Given the description of an element on the screen output the (x, y) to click on. 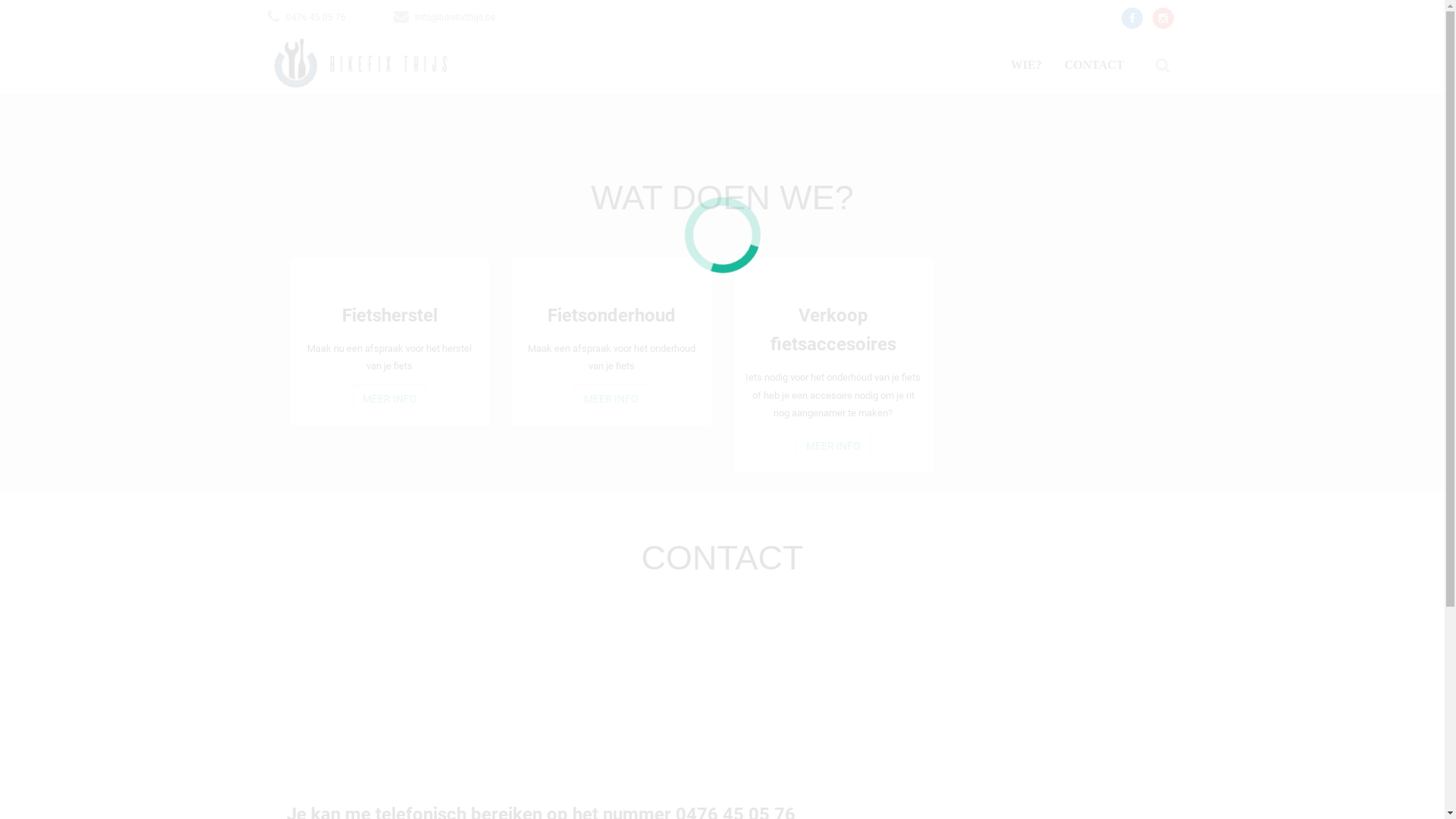
CONTACT Element type: text (1094, 64)
MEER INFO Element type: text (389, 399)
Sint annaplein 17, 9290 Berlare Element type: hover (400, 682)
WIE? Element type: text (1026, 64)
MEER INFO Element type: text (611, 399)
Info@bikefixthijs.be Element type: text (454, 17)
Bikefix.Thijs Element type: hover (359, 64)
MEER INFO Element type: text (833, 446)
